Given the description of an element on the screen output the (x, y) to click on. 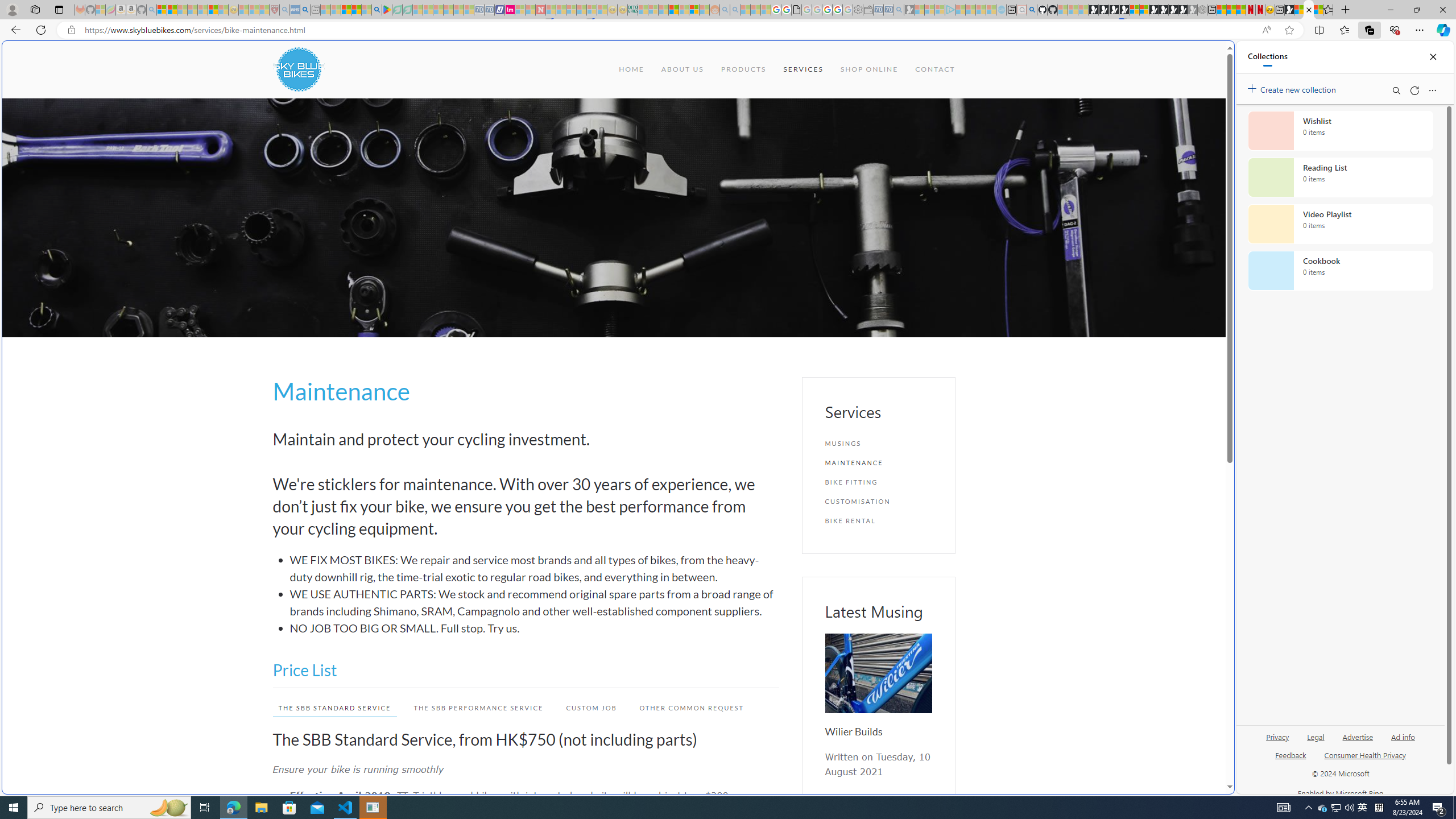
PRODUCTS (742, 68)
utah sues federal government - Search (922, 389)
THE SBB PERFORMANCE SERVICE (477, 707)
Jobs - lastminute.com Investor Portal (509, 9)
